Given the description of an element on the screen output the (x, y) to click on. 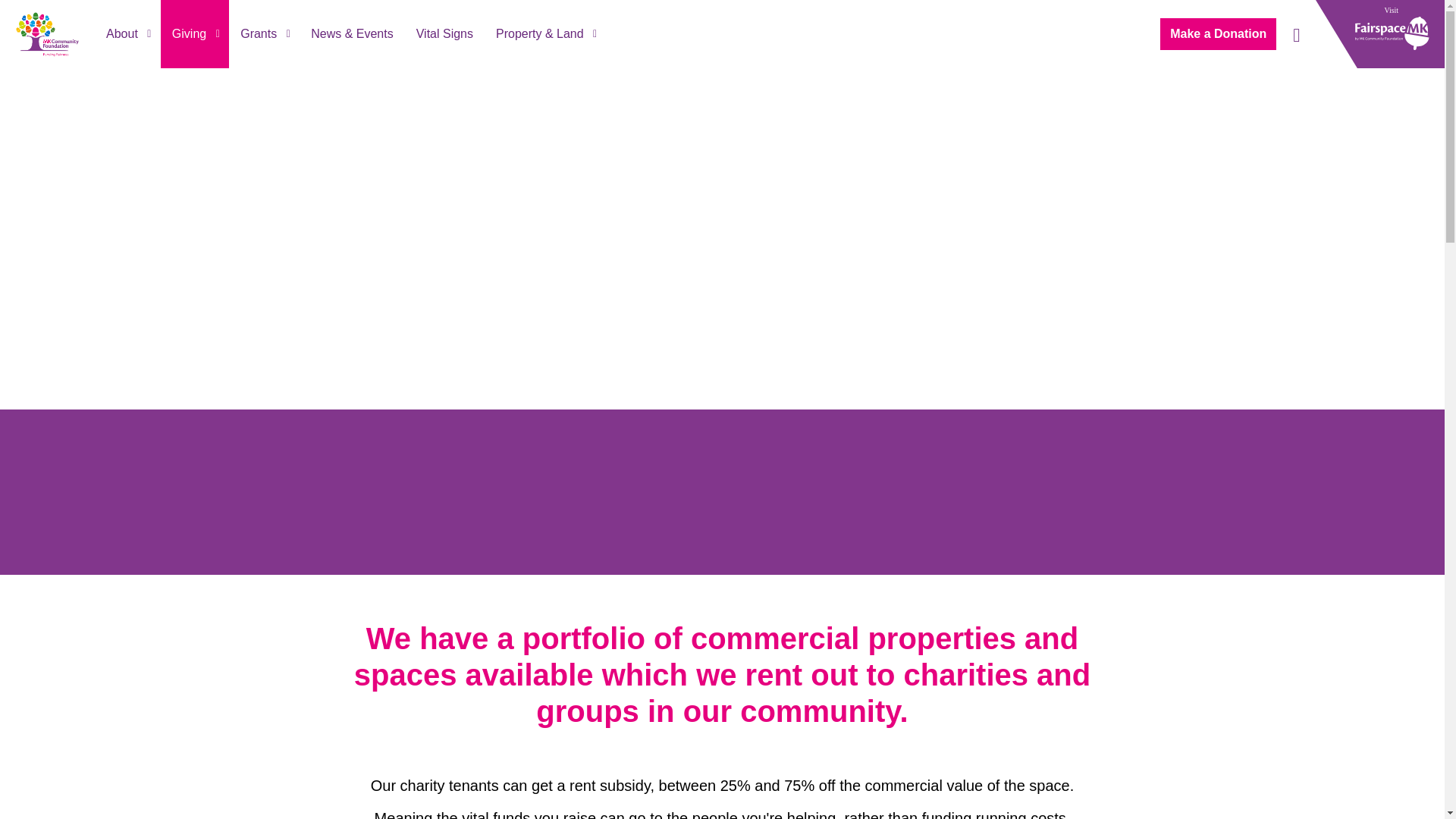
Grants (263, 33)
Make a Donation (1218, 33)
About (127, 33)
Skip to main content (721, 17)
Giving (194, 33)
Vital Signs (444, 33)
